Given the description of an element on the screen output the (x, y) to click on. 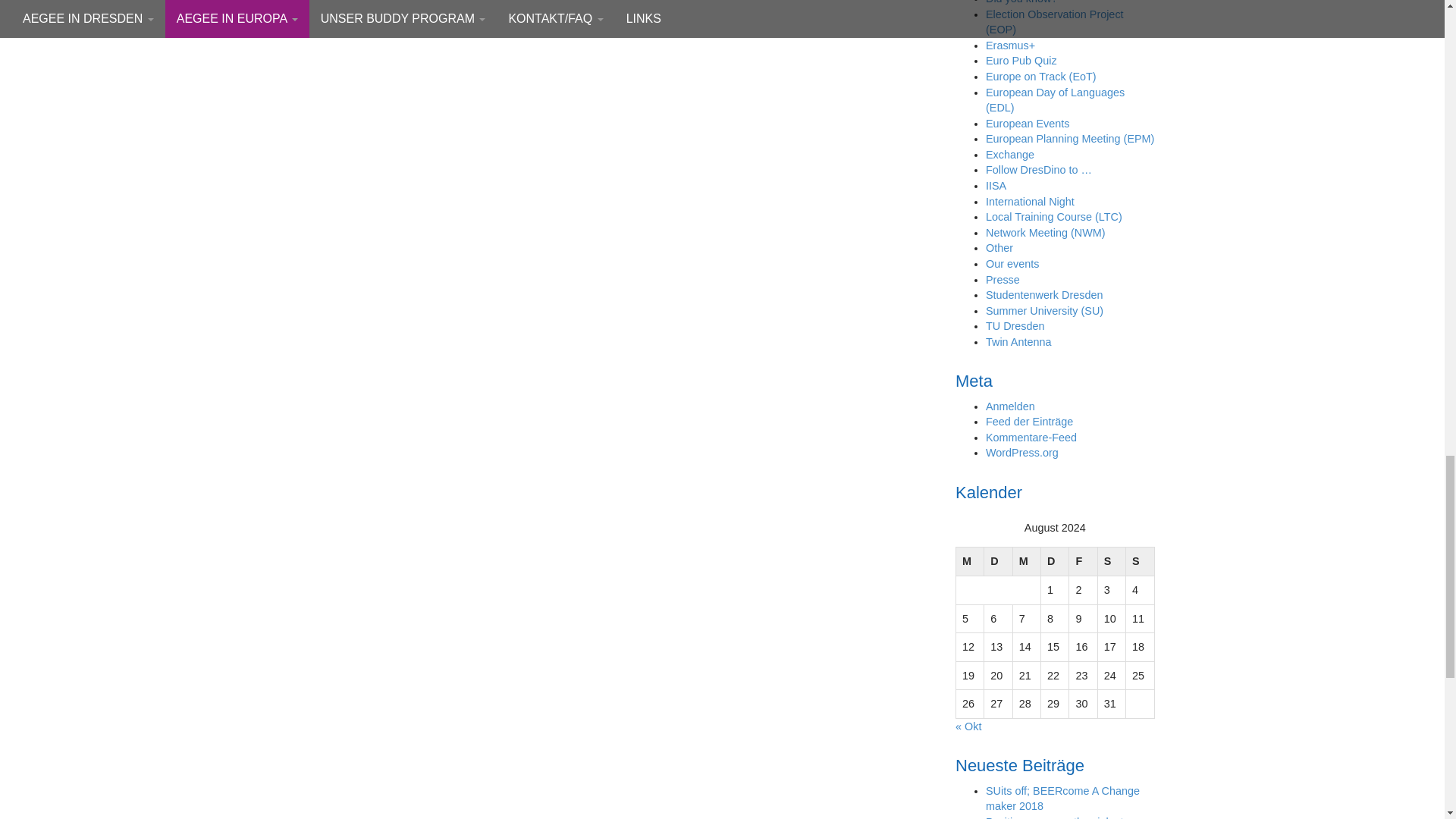
Mittwoch (1026, 561)
Samstag (1111, 561)
Dienstag (997, 561)
Freitag (1082, 561)
Montag (969, 561)
Donnerstag (1054, 561)
Sonntag (1139, 561)
